Given the description of an element on the screen output the (x, y) to click on. 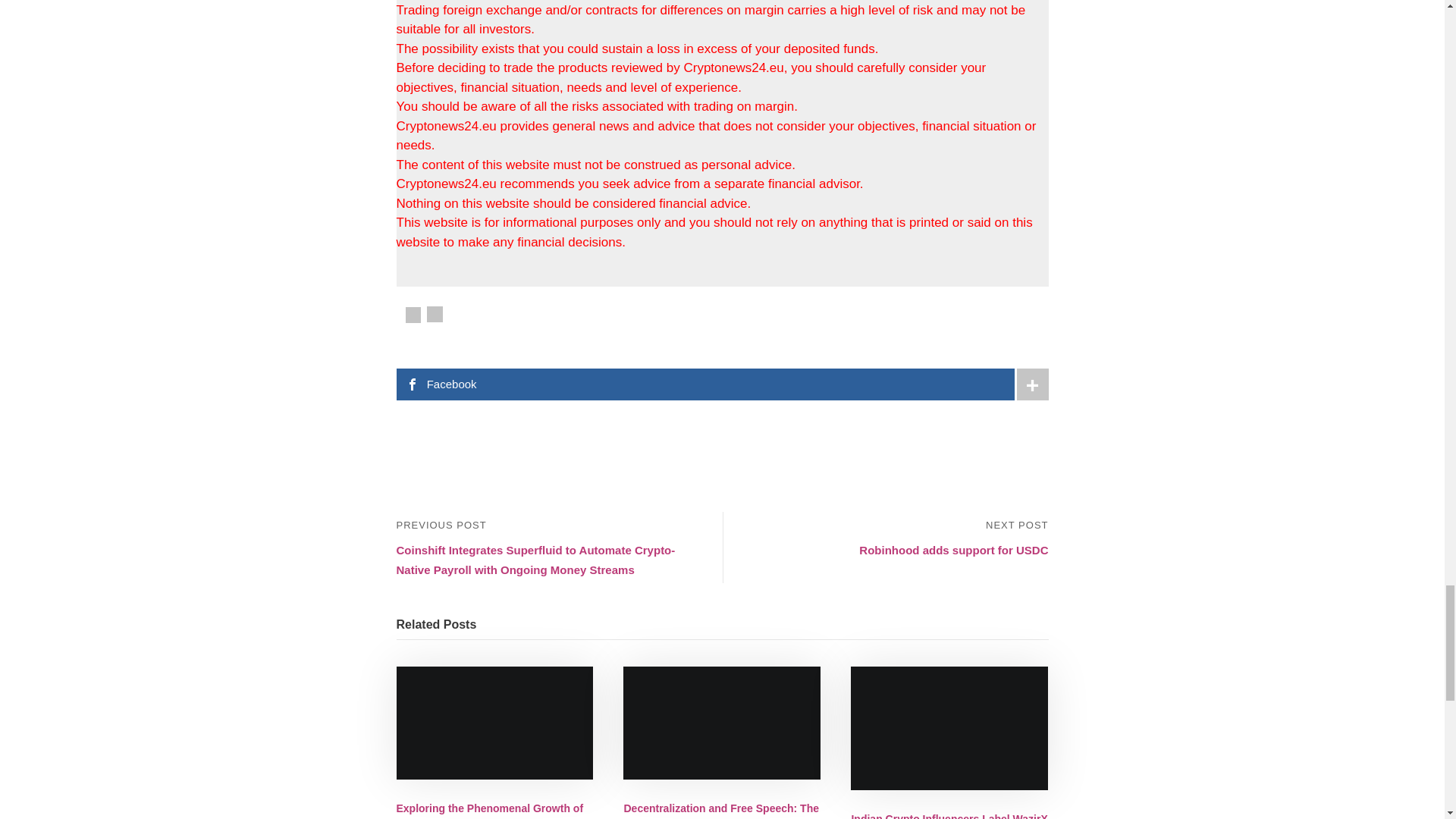
Facebook Share (412, 314)
Tweet (434, 314)
